Given the description of an element on the screen output the (x, y) to click on. 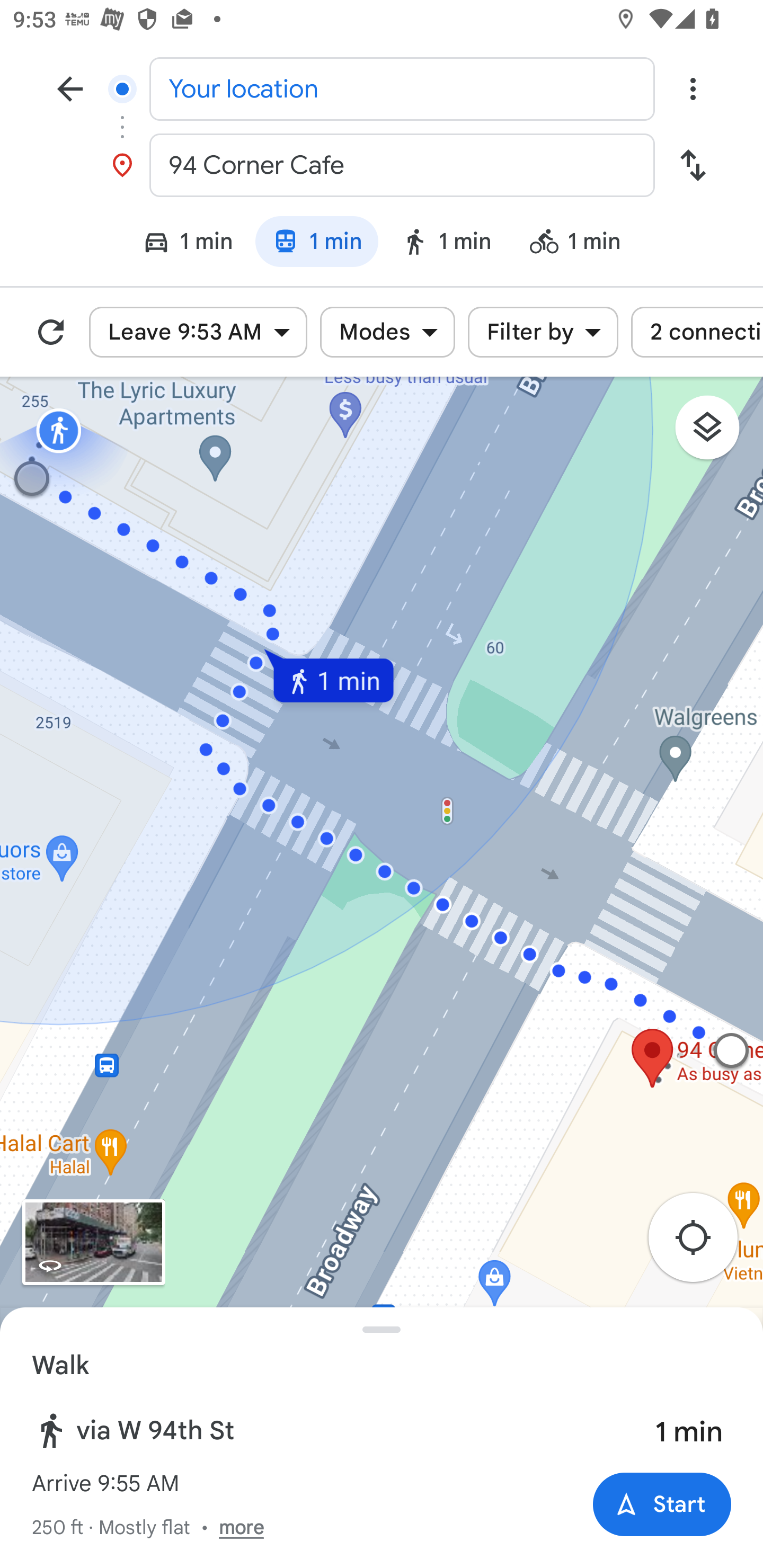
Navigate up (70, 88)
Your location Start location, Your location (381, 88)
Overflow menu (692, 88)
94 Corner Cafe Destination, 94 Corner Cafe (381, 165)
Swap start and destination (692, 165)
Driving mode: 1 min 1 min (179, 244)
Walking mode: 1 min 1 min (445, 244)
Bicycling mode: 1 min 1 min (583, 244)
Refresh (50, 332)
Leave 9:53 AM (198, 332)
Modes (387, 332)
Filter by (542, 332)
2 connecting modes (697, 332)
Layers (716, 433)
Re-center map to your location (702, 1242)
